Given the description of an element on the screen output the (x, y) to click on. 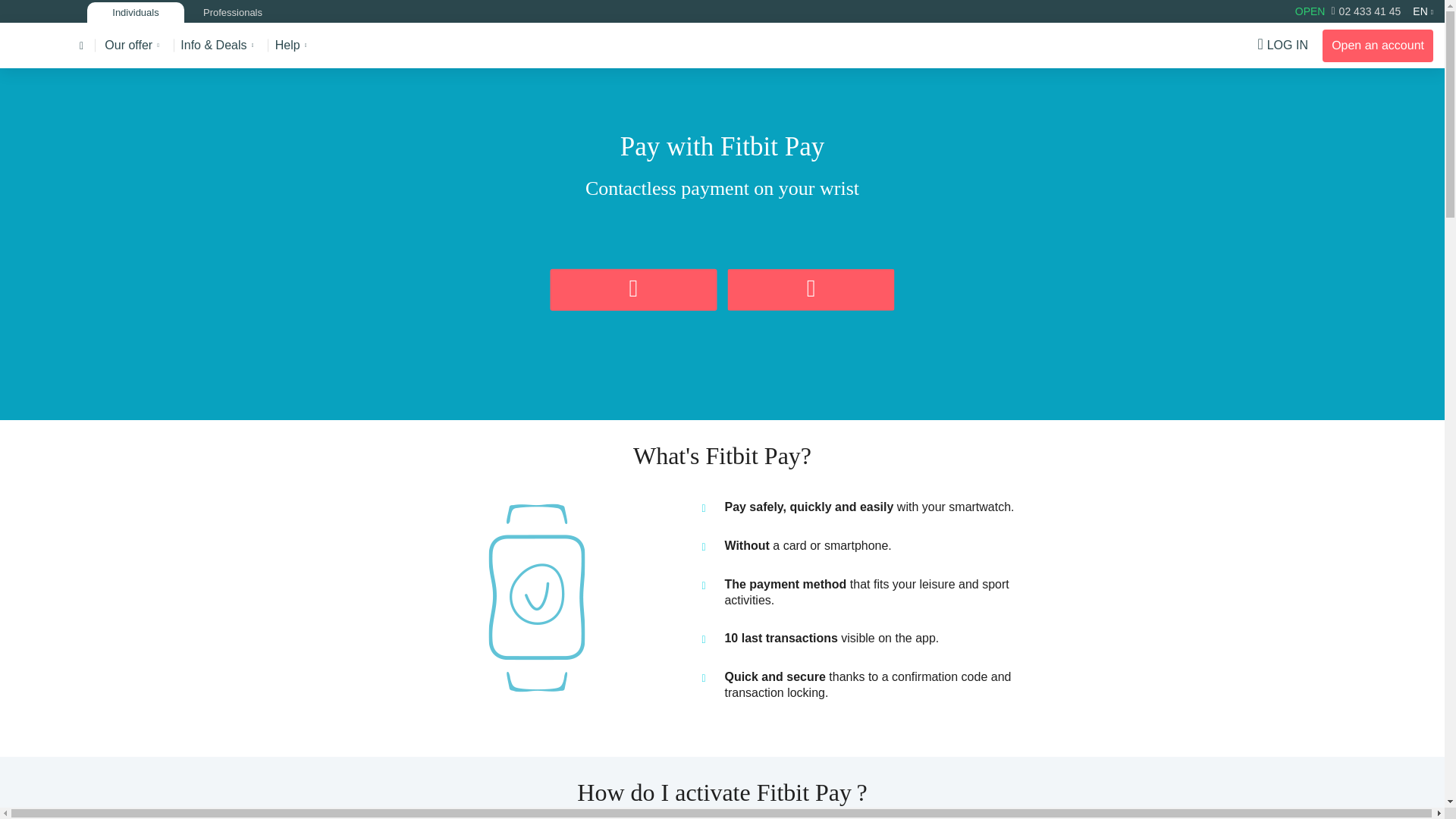
Professionals (232, 13)
Our offer (128, 44)
Individuals (135, 13)
garmin-pay (537, 597)
